Given the description of an element on the screen output the (x, y) to click on. 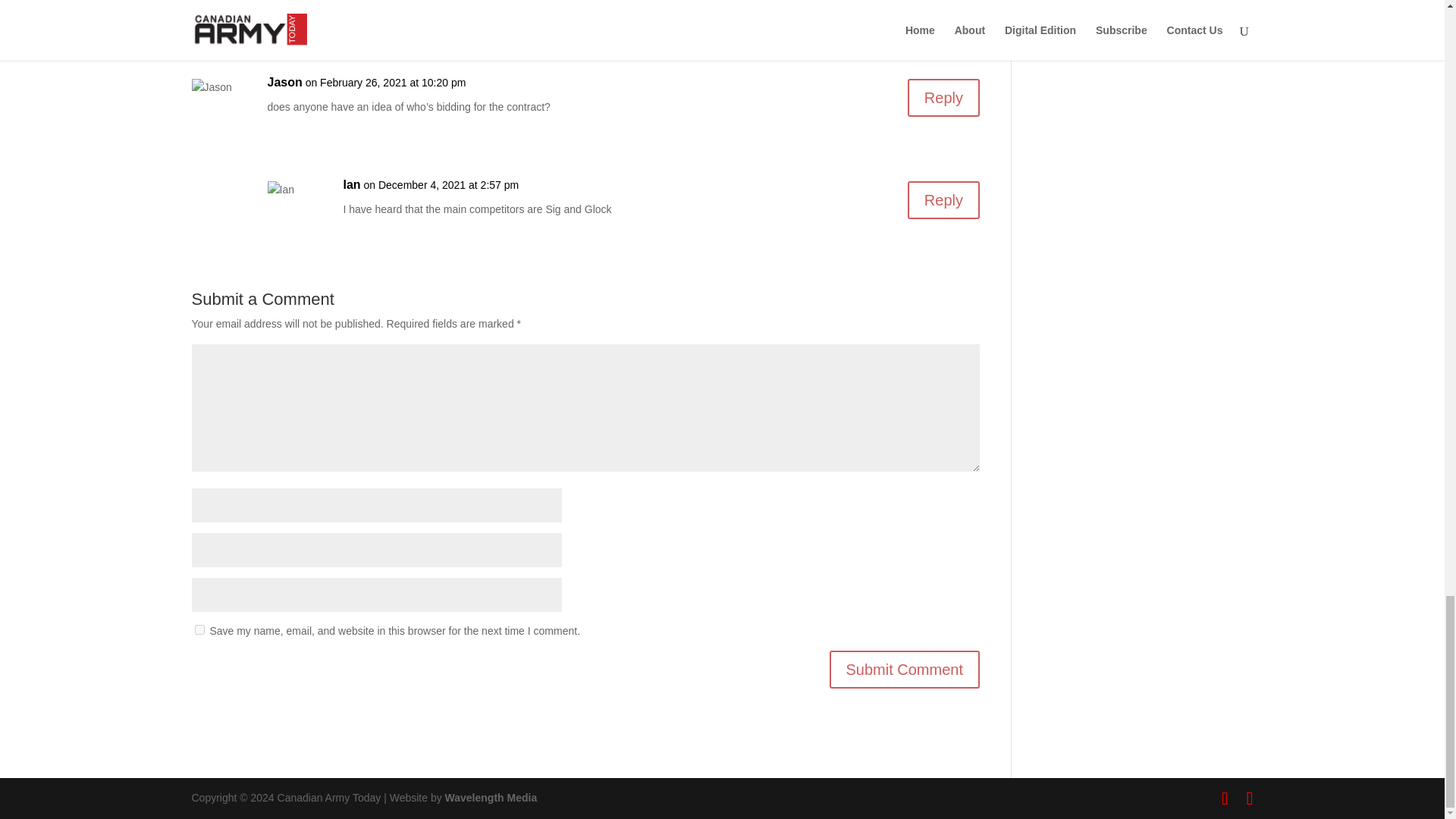
yes (198, 629)
Submit Comment (904, 669)
Reply (943, 97)
Reply (943, 7)
Reply (943, 199)
Submit Comment (904, 669)
